Given the description of an element on the screen output the (x, y) to click on. 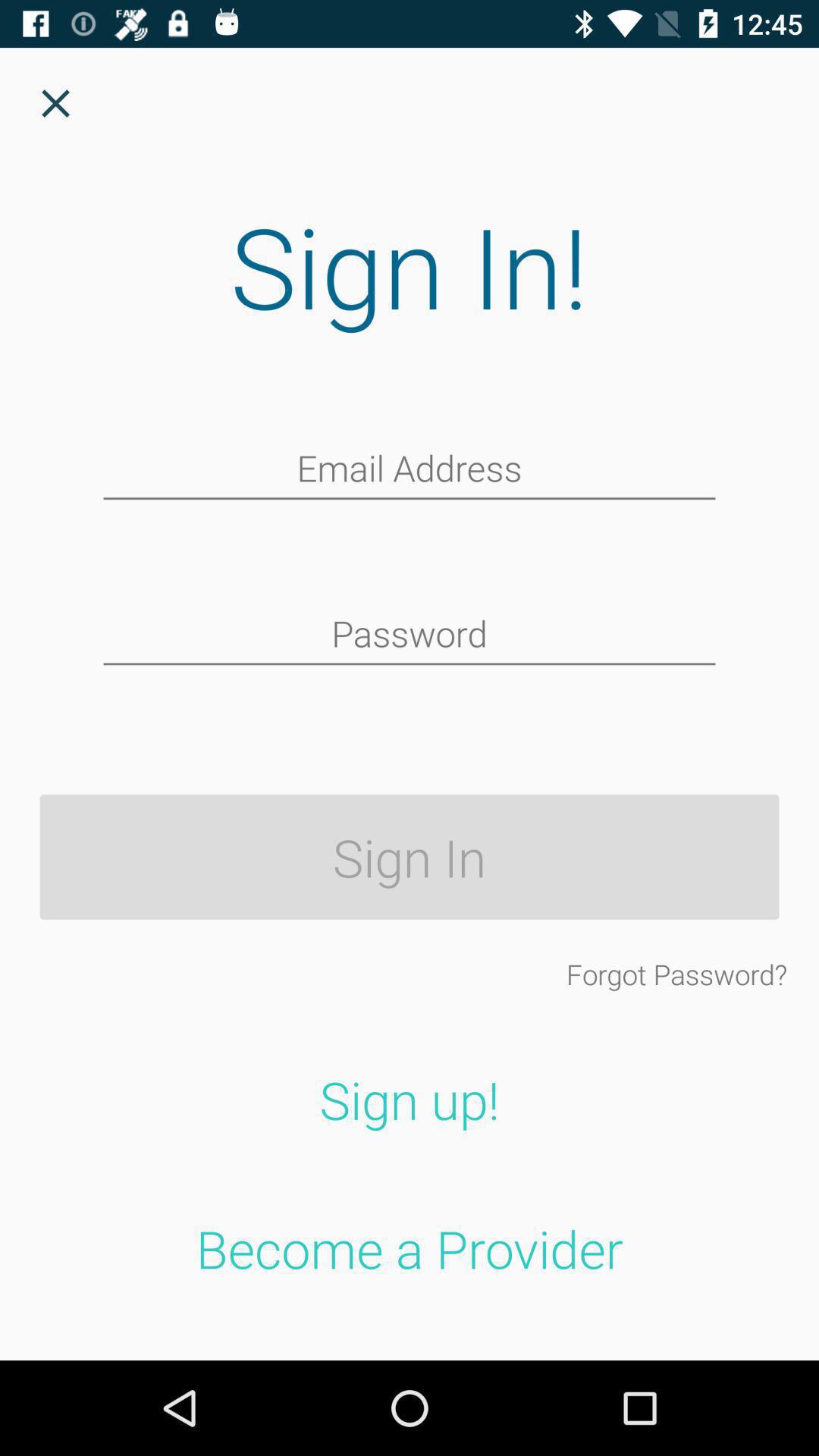
open item below sign in! icon (409, 470)
